Given the description of an element on the screen output the (x, y) to click on. 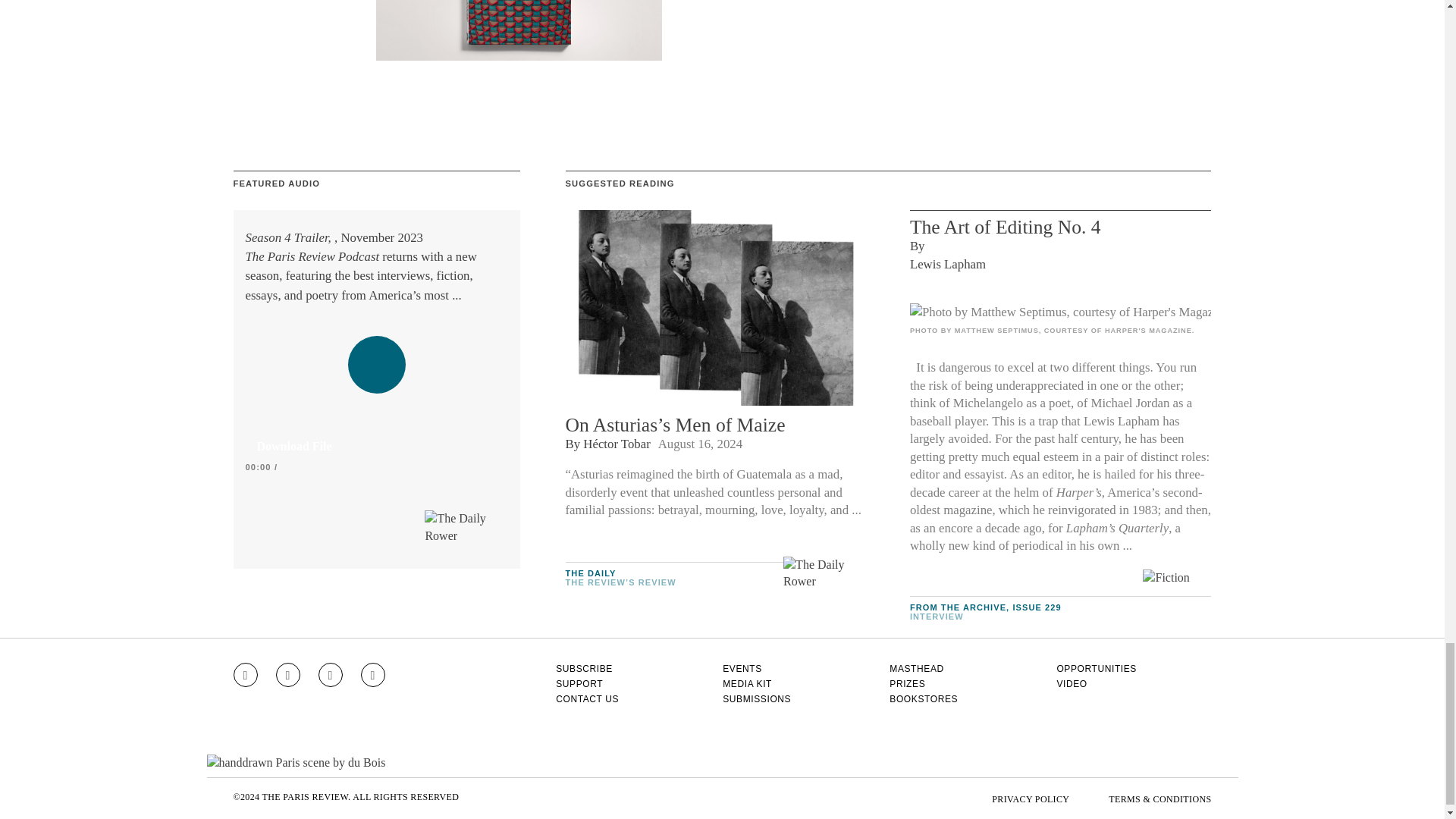
Go to Twitter feed (330, 674)
Go to Instagram feed (244, 674)
undefined (1060, 312)
Go to Facebook page (287, 674)
Go to RSS feed (373, 674)
